Given the description of an element on the screen output the (x, y) to click on. 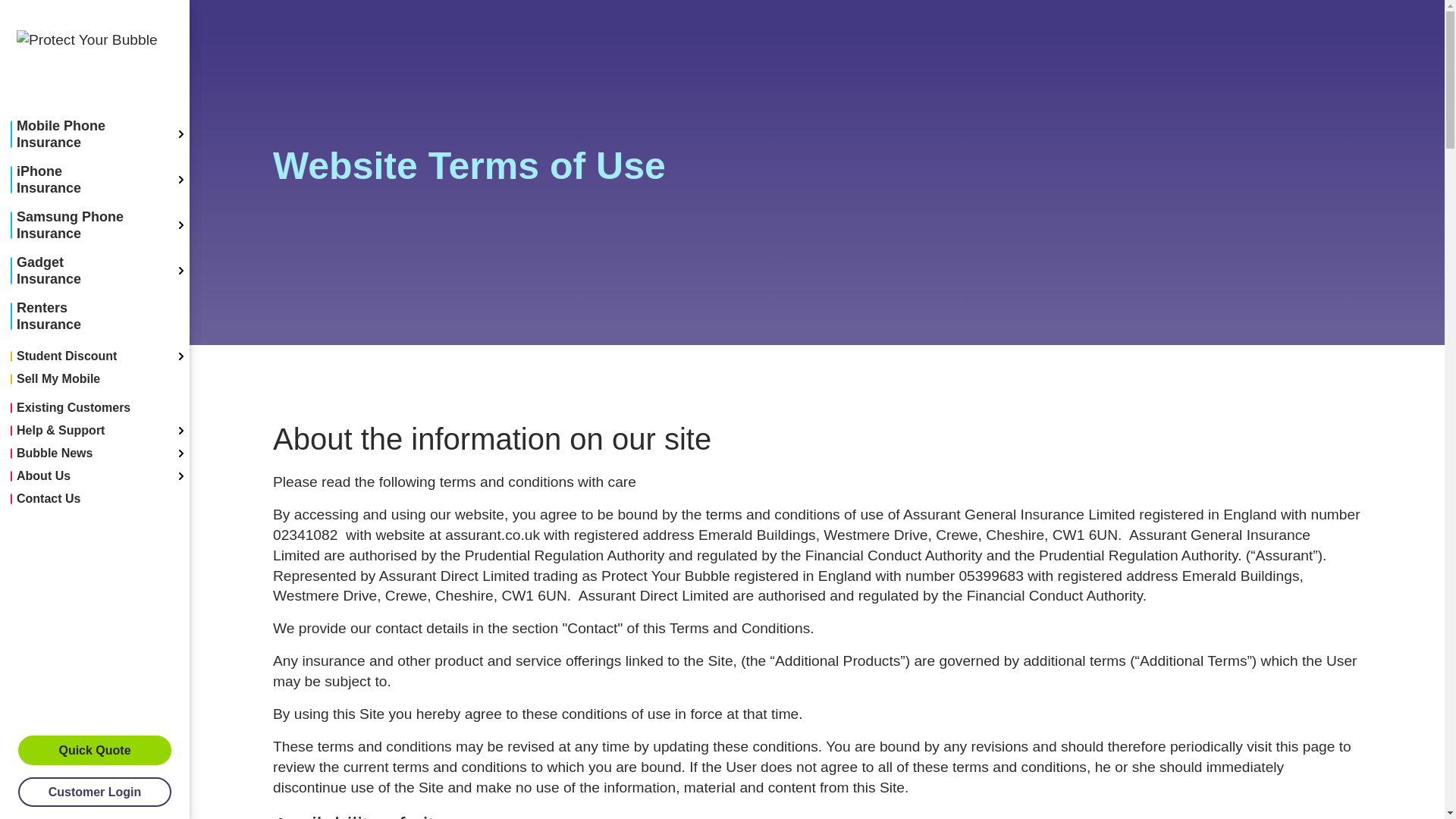
Logo of the site (94, 61)
